Given the description of an element on the screen output the (x, y) to click on. 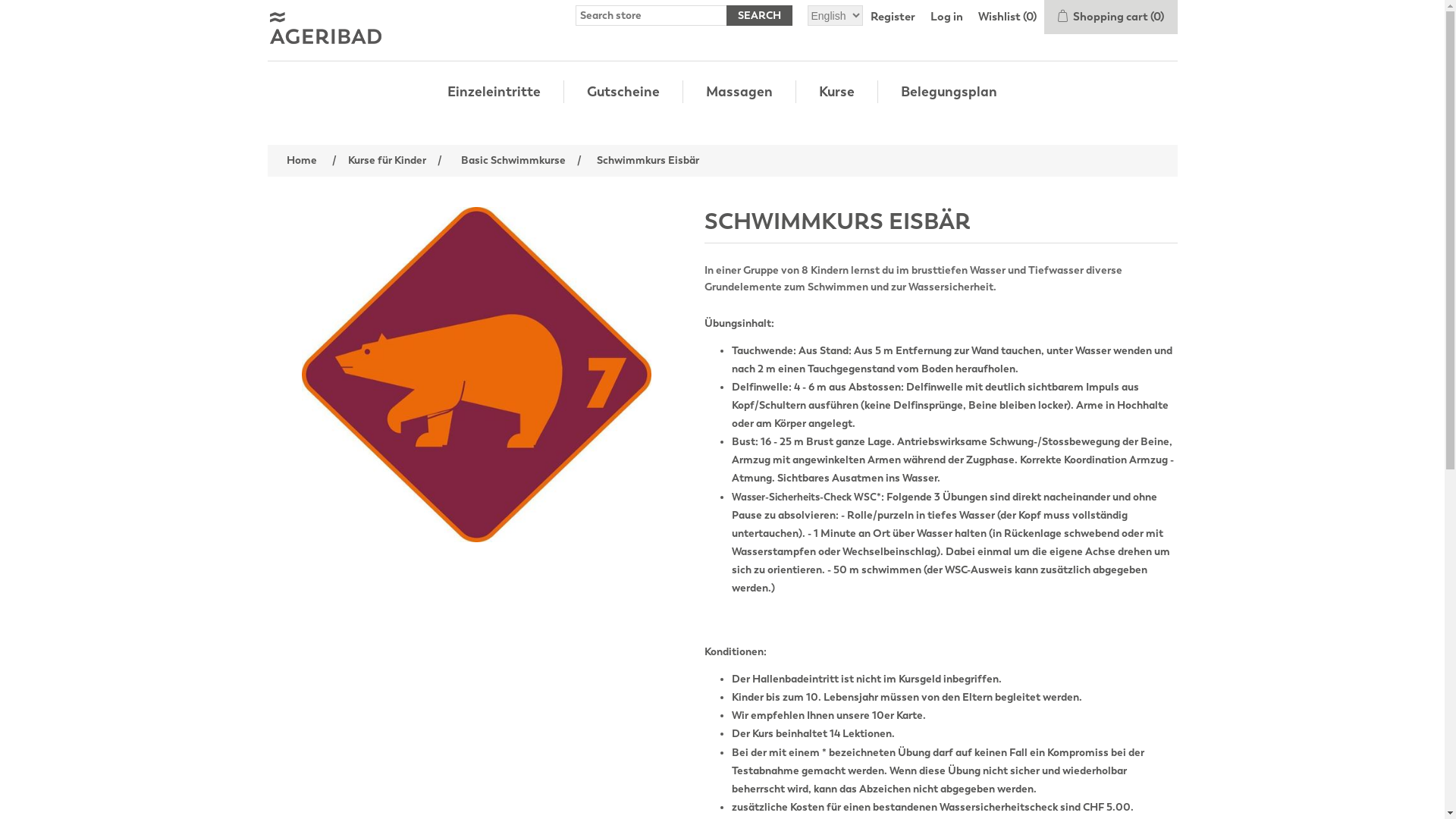
Shopping cart (0) Element type: text (1110, 17)
Log in Element type: text (945, 17)
Register Element type: text (892, 17)
Home Element type: text (301, 160)
Gutscheine Element type: text (623, 91)
Massagen Element type: text (739, 91)
Basic Schwimmkurse Element type: text (512, 160)
Search Element type: text (759, 15)
Wishlist (0) Element type: text (1007, 17)
Belegungsplan Element type: text (948, 91)
Einzeleintritte Element type: text (493, 91)
Kurse Element type: text (836, 91)
